Given the description of an element on the screen output the (x, y) to click on. 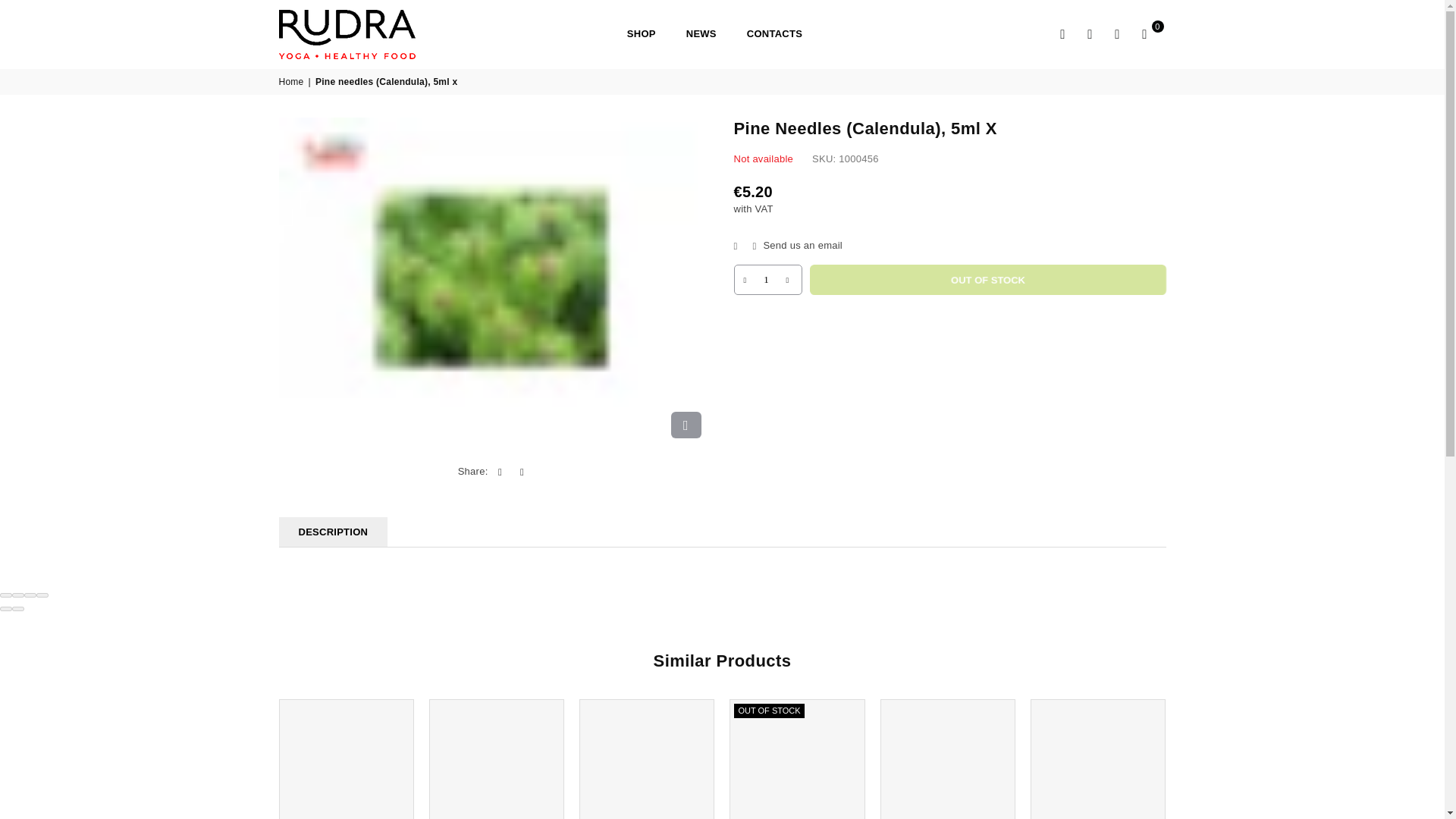
CONTACTS (774, 34)
0 (1144, 33)
Profils (1090, 33)
Cart (1144, 33)
fullscreen toggle (30, 594)
Share on Facebook (500, 471)
1 (765, 279)
Quantity (767, 279)
Wish list (1117, 33)
Back to home page (292, 82)
Search (1063, 33)
Share (17, 594)
Forward to email (521, 471)
NEWS (701, 34)
SHOP (640, 34)
